Given the description of an element on the screen output the (x, y) to click on. 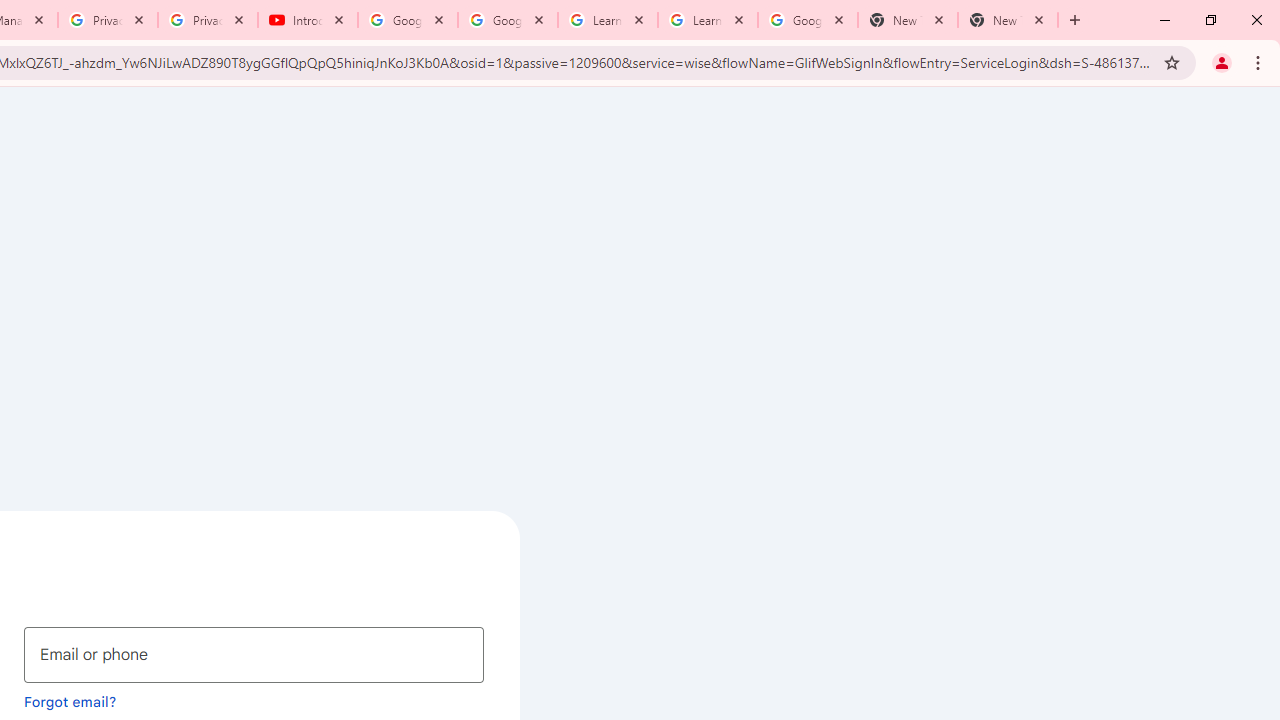
Introduction | Google Privacy Policy - YouTube (308, 20)
